Given the description of an element on the screen output the (x, y) to click on. 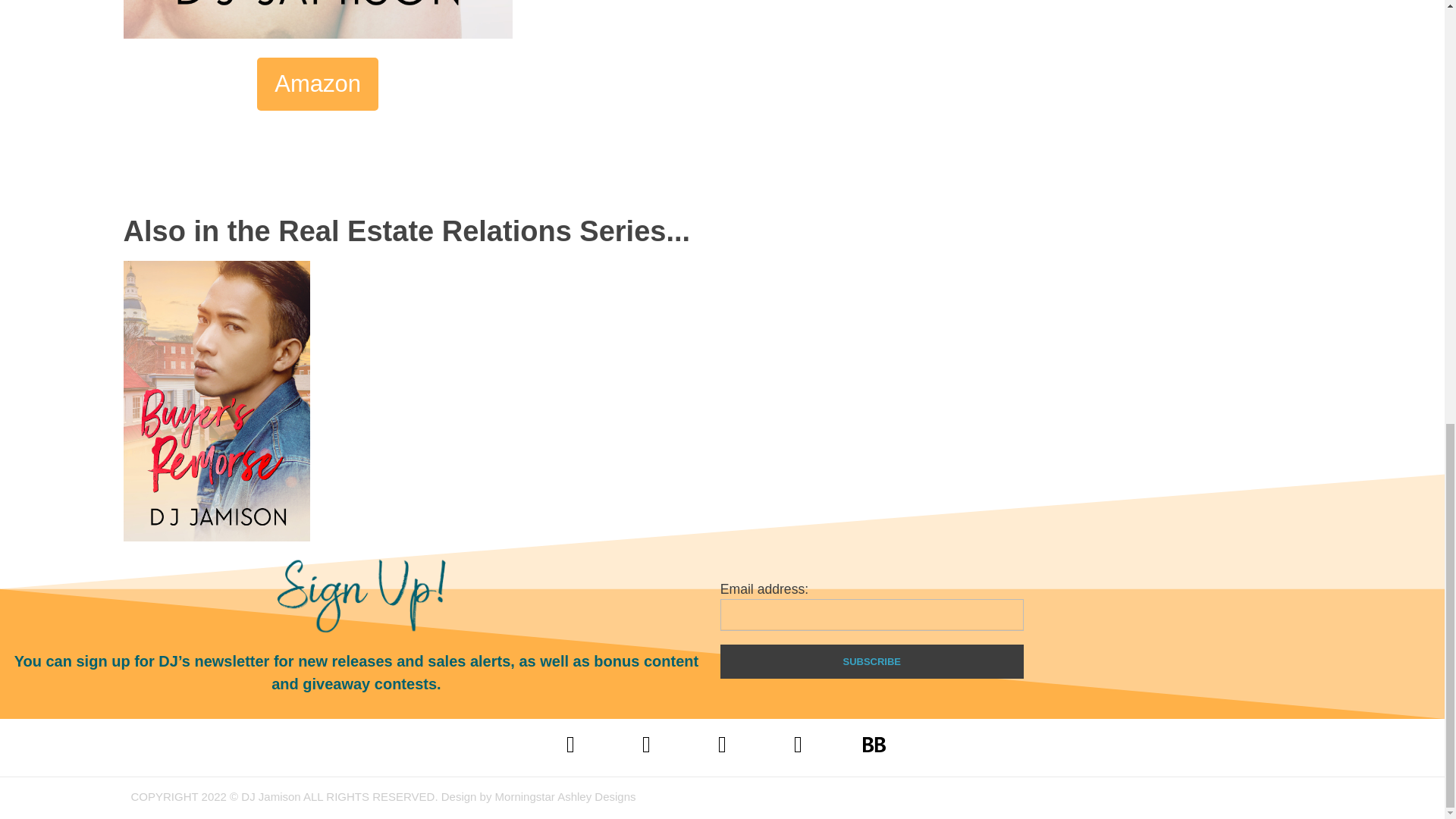
Amazon (317, 84)
Subscribe (871, 661)
Subscribe (871, 661)
